Given the description of an element on the screen output the (x, y) to click on. 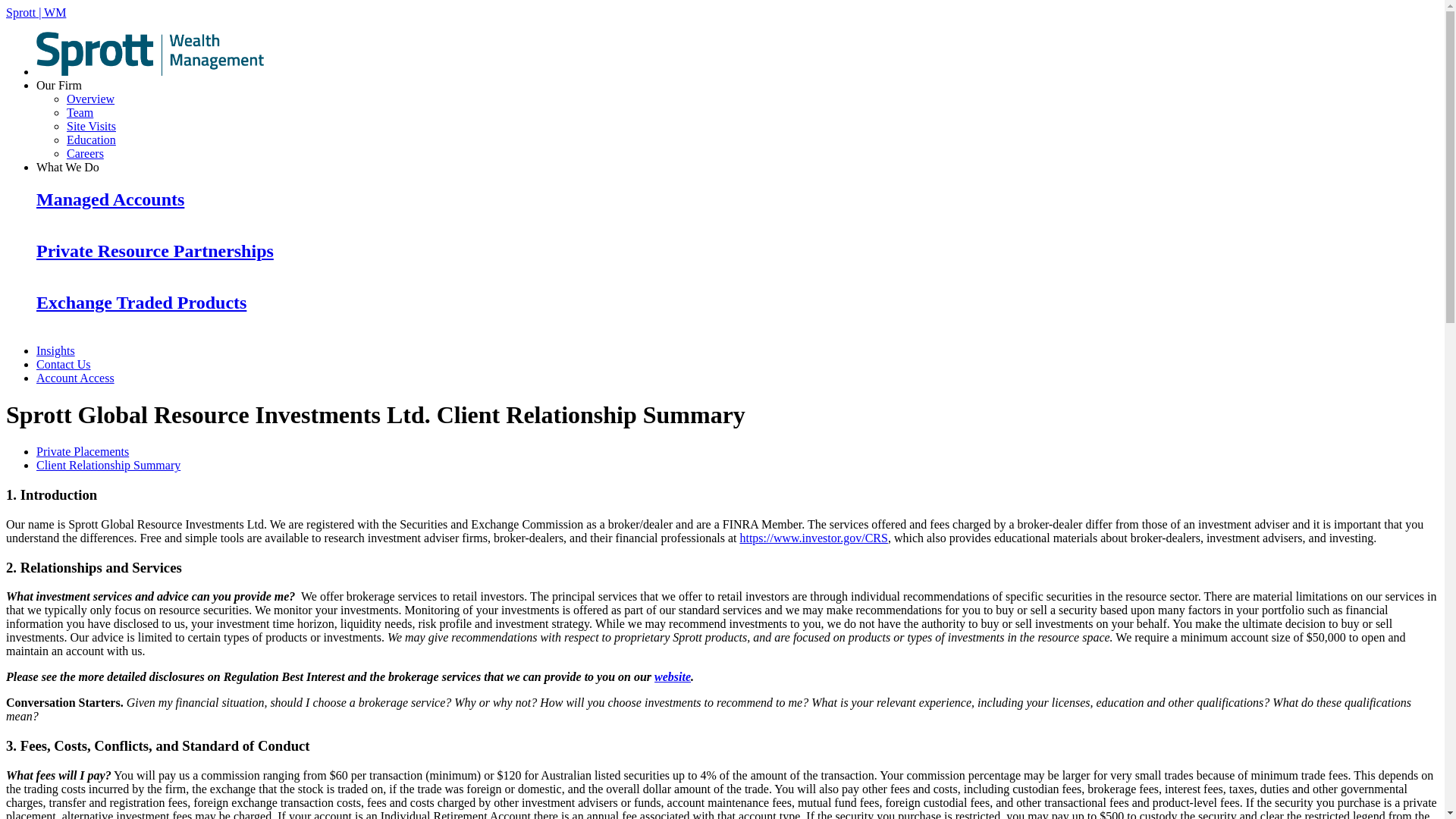
Contact Us (63, 364)
Site Visits (91, 125)
Careers (84, 153)
Client Relationship Summary (108, 464)
Our Firm (58, 84)
Insights (55, 350)
Education (91, 139)
Private Placements (82, 451)
website (671, 676)
Private Placements (82, 451)
Client Relationship Summary SGRIL (108, 464)
What We Do (67, 166)
Team (79, 112)
Account Access (75, 377)
Overview (90, 98)
